Given the description of an element on the screen output the (x, y) to click on. 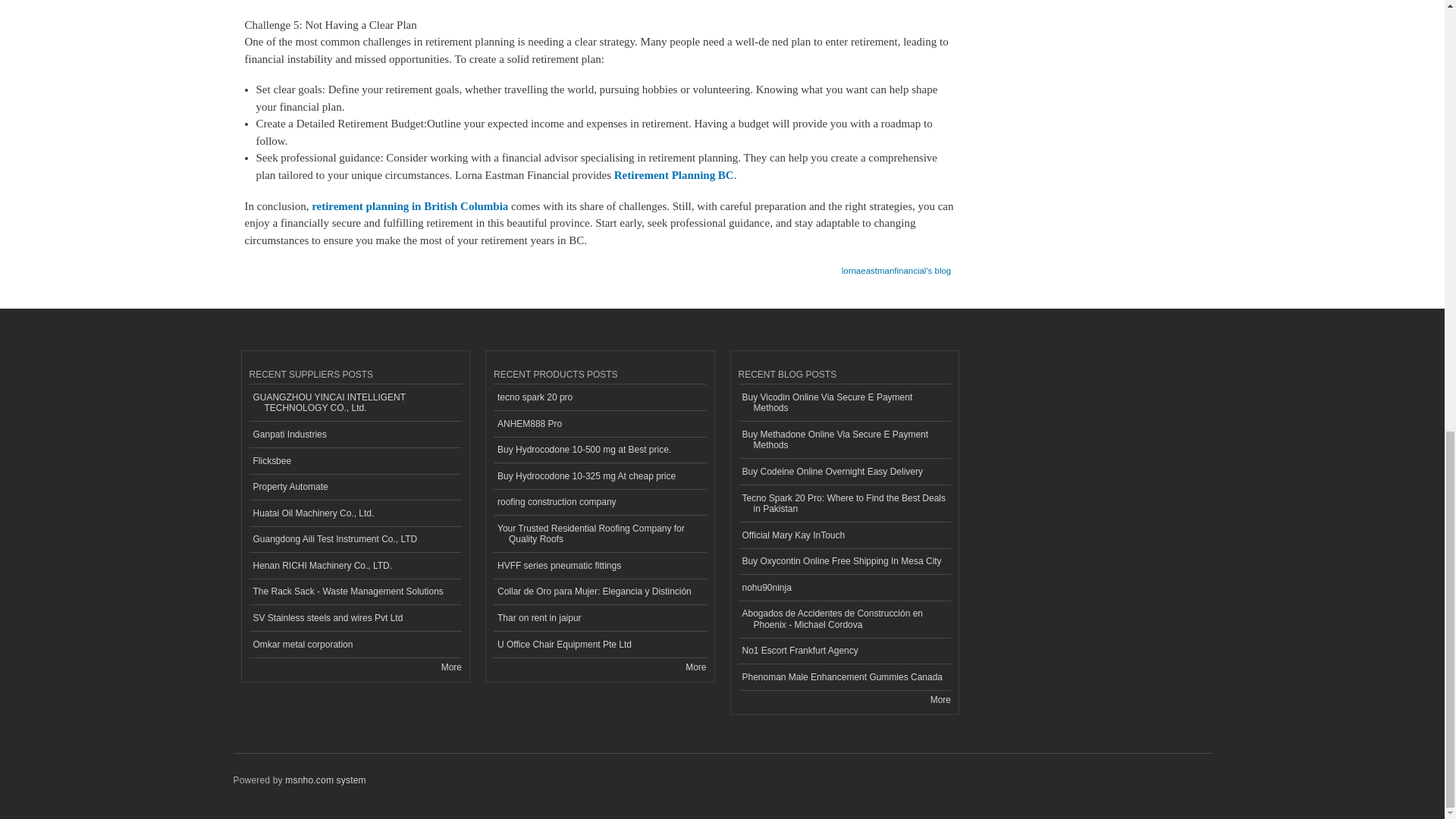
Ganpati Industries (354, 434)
Your Trusted Residential Roofing Company for Quality Roofs (599, 533)
More (451, 666)
Read the latest products entries. (695, 666)
Omkar metal corporation (354, 644)
roofing construction company (599, 502)
Read the latest suppliers entries. (451, 666)
tecno spark 20 pro (599, 397)
Henan RICHI Machinery Co., LTD. (354, 565)
Property Automate (354, 488)
